Given the description of an element on the screen output the (x, y) to click on. 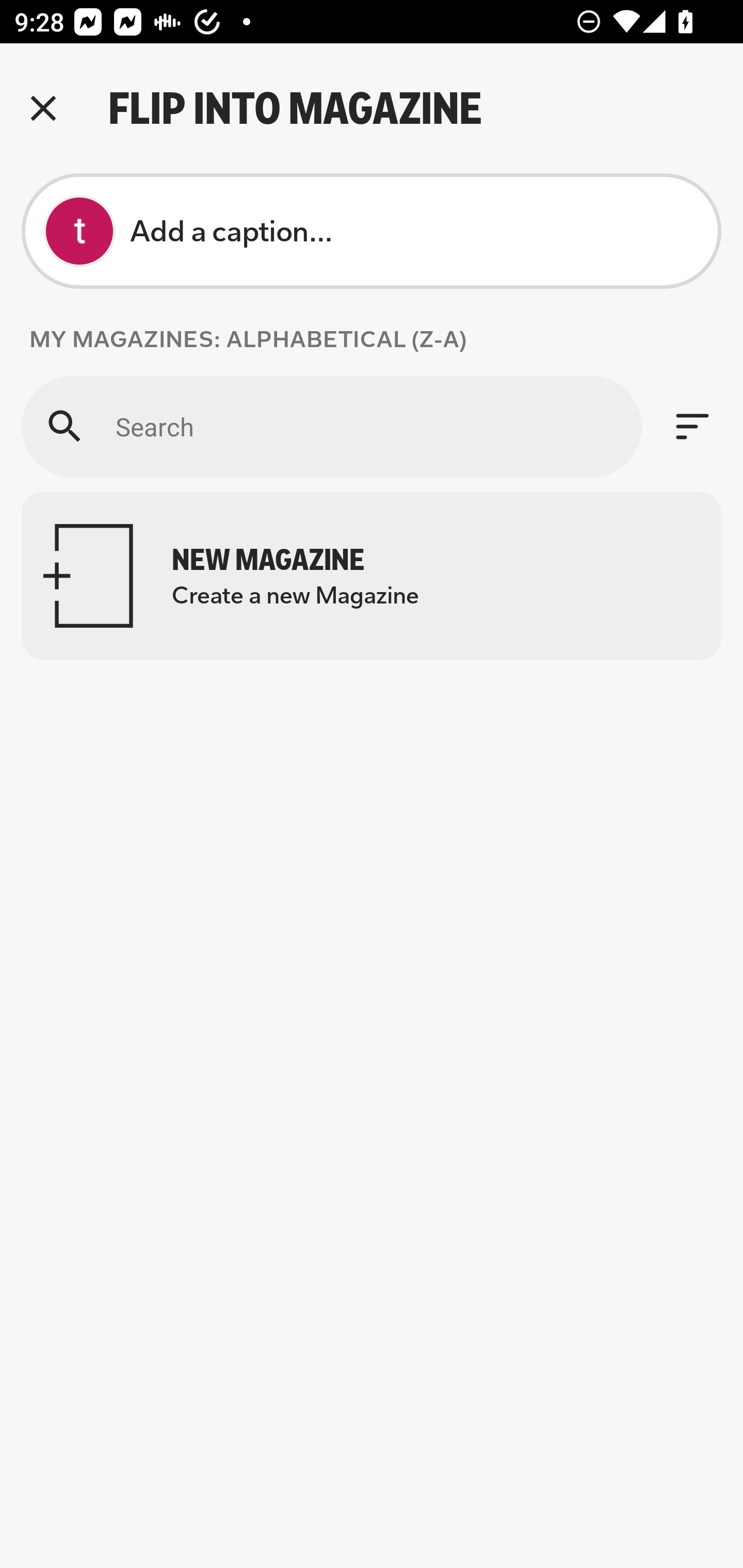
test appium Add a caption… (371, 231)
Search (331, 426)
NEW MAGAZINE Create a new Magazine (371, 575)
